Given the description of an element on the screen output the (x, y) to click on. 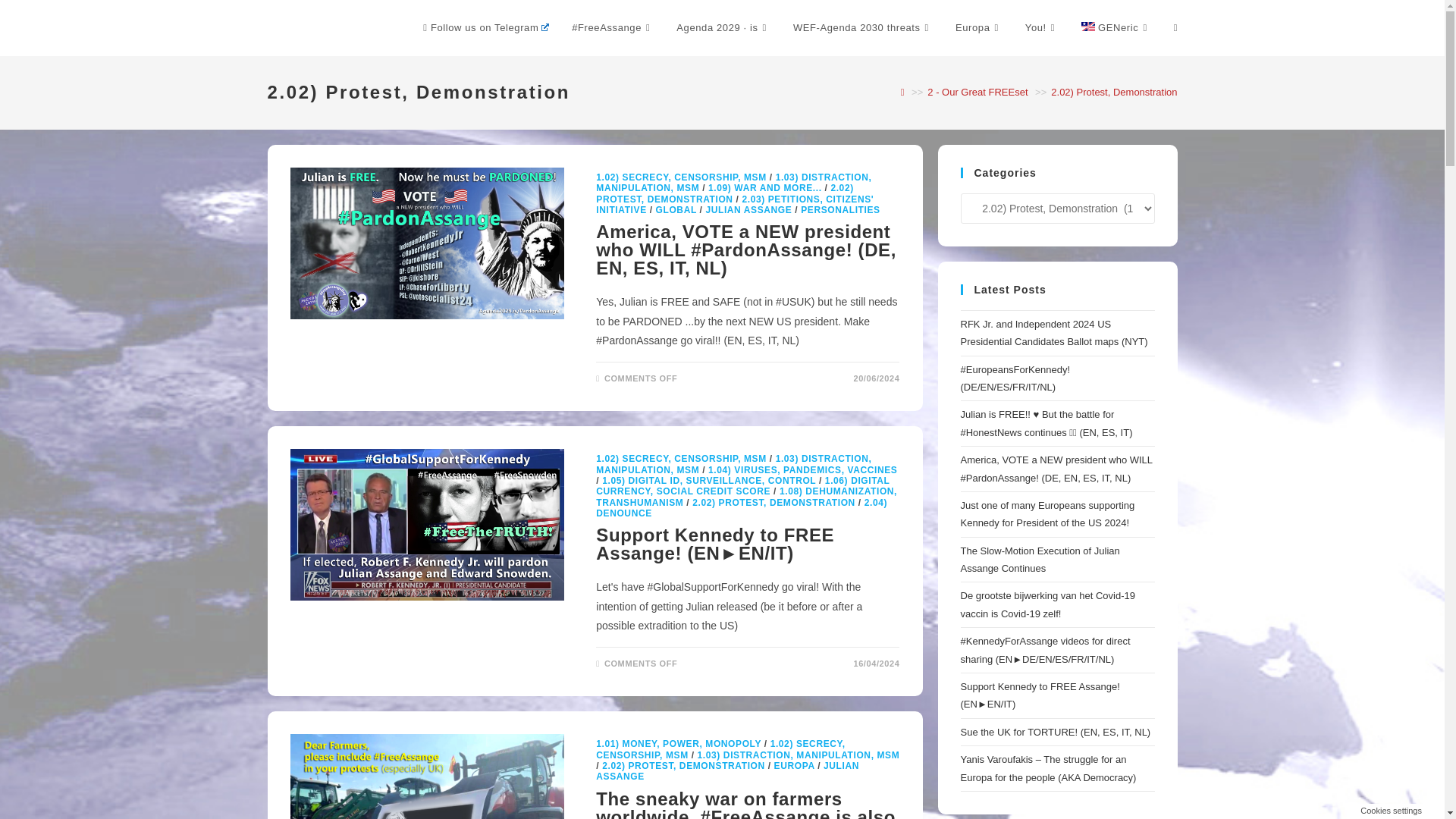
Europa (978, 28)
GENeric (1115, 28)
WEF-Agenda 2030 threats (862, 28)
You! (1041, 28)
GENeric (1115, 28)
